Given the description of an element on the screen output the (x, y) to click on. 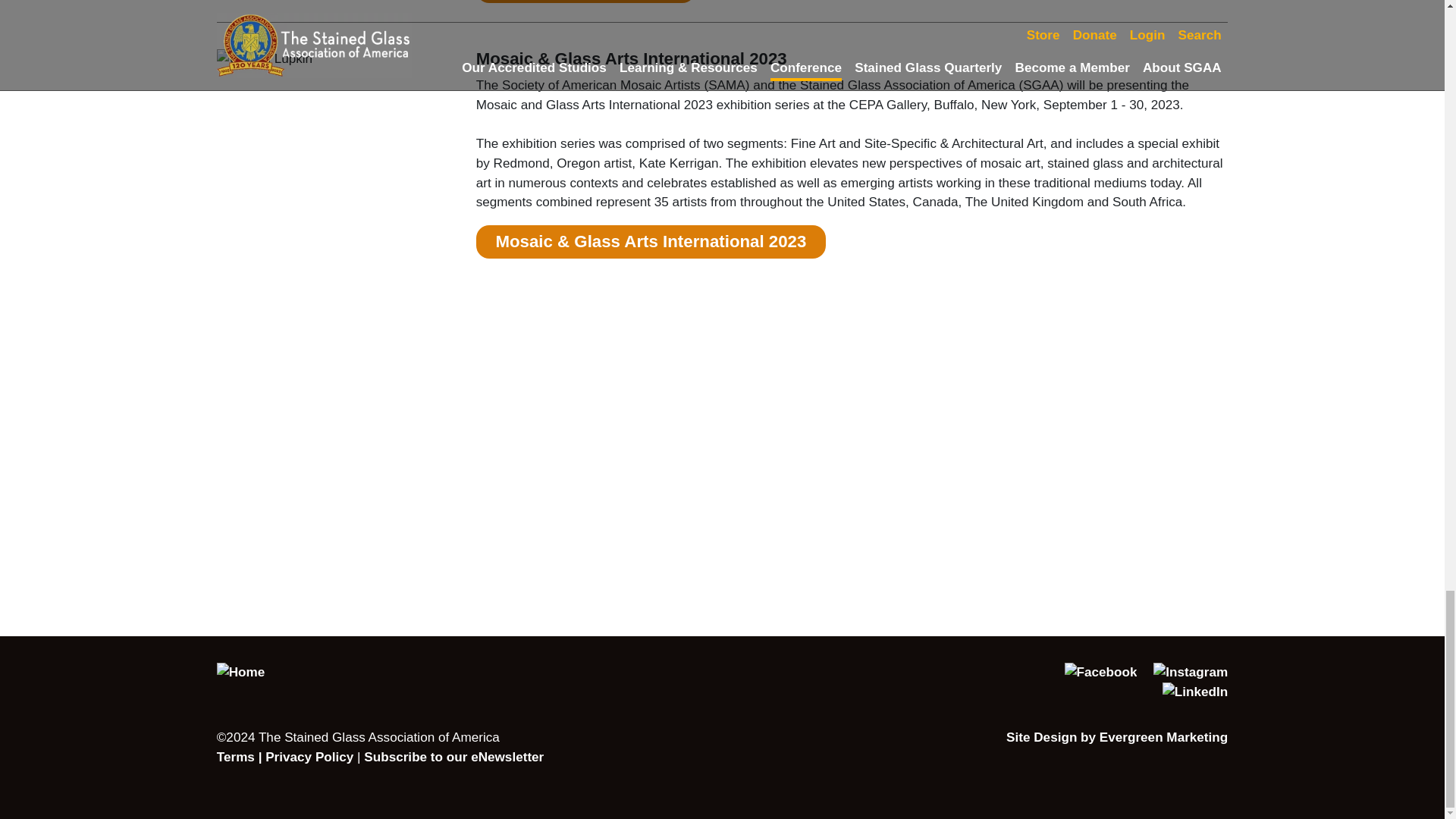
Facebook (1094, 671)
Instagram (1183, 671)
LinkedIn (1189, 691)
